Given the description of an element on the screen output the (x, y) to click on. 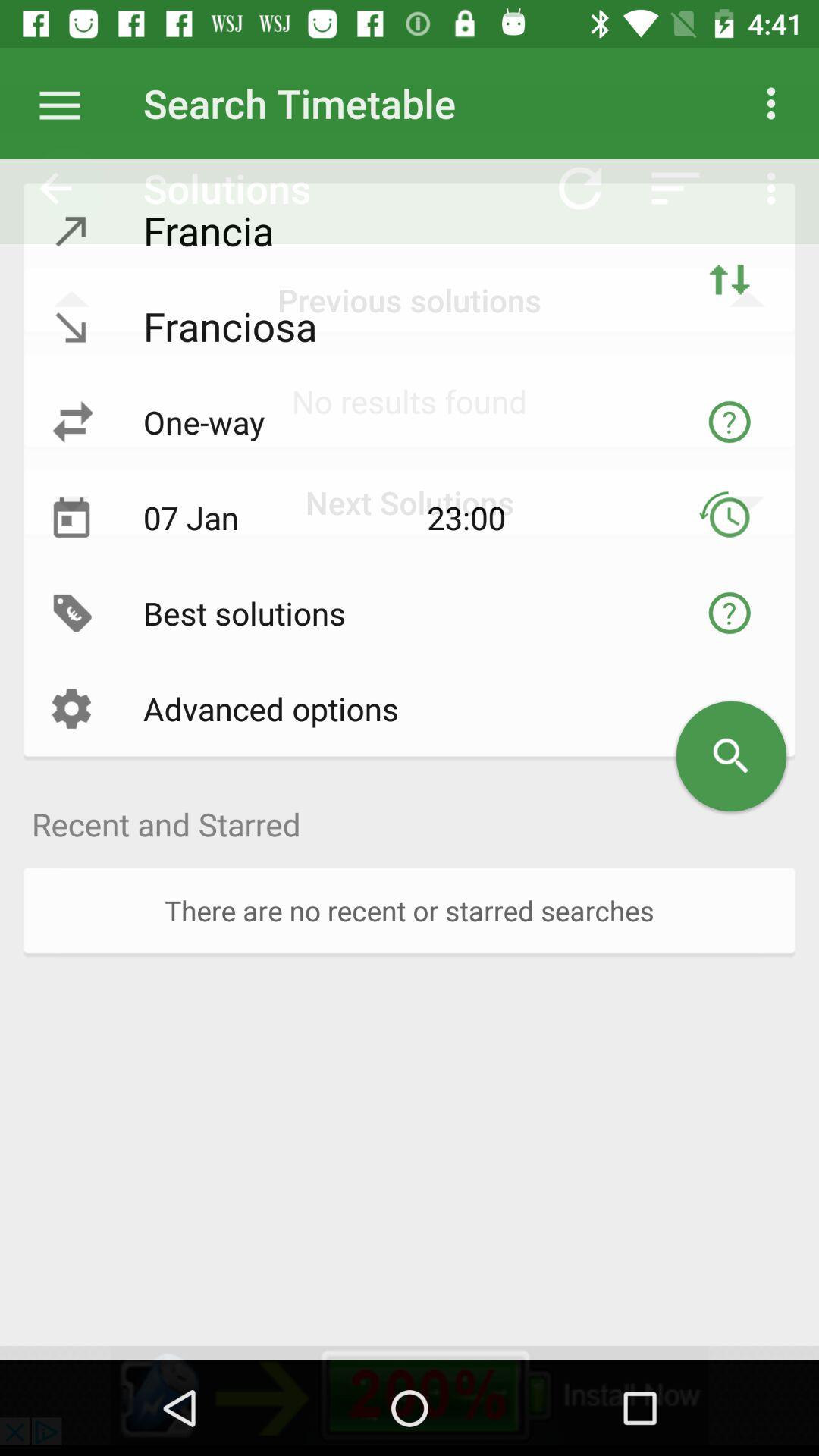
click menu icon (67, 103)
